Given the description of an element on the screen output the (x, y) to click on. 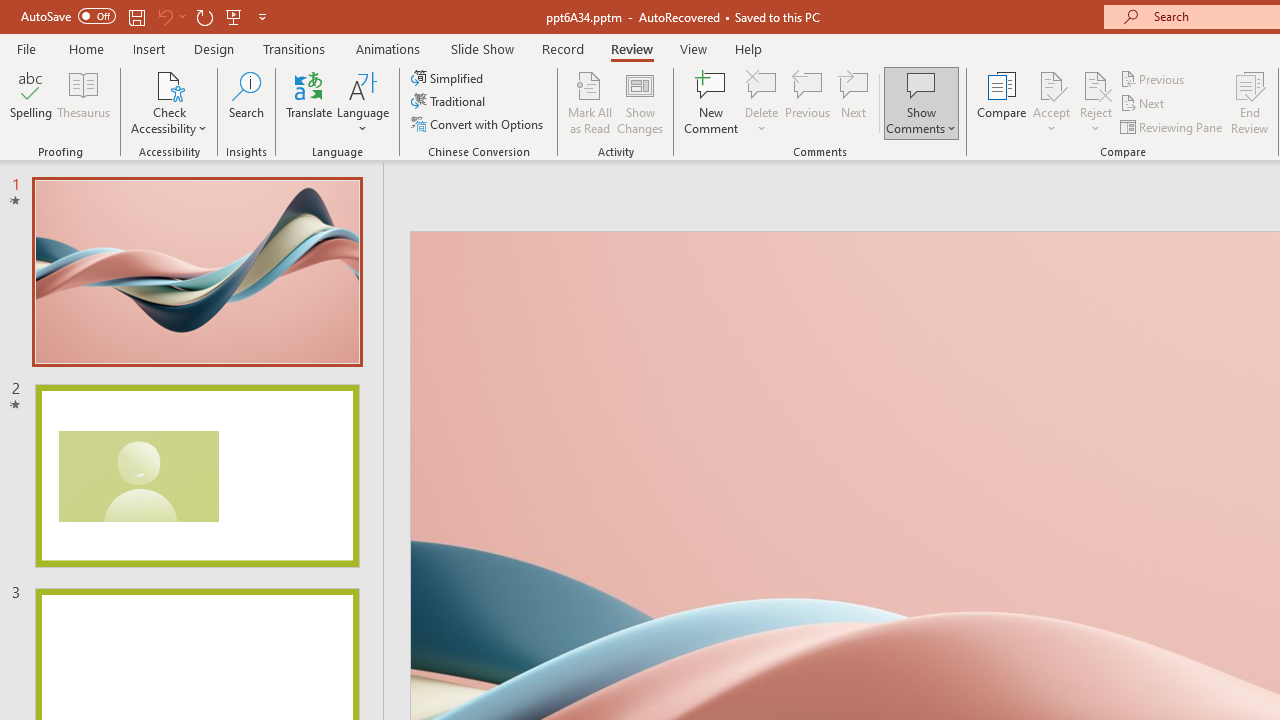
Traditional (449, 101)
Convert with Options... (479, 124)
Show Changes (639, 102)
New Comment (711, 102)
Check Accessibility (169, 84)
Accept Change (1051, 84)
End Review (1249, 102)
Reject Change (1096, 84)
